Given the description of an element on the screen output the (x, y) to click on. 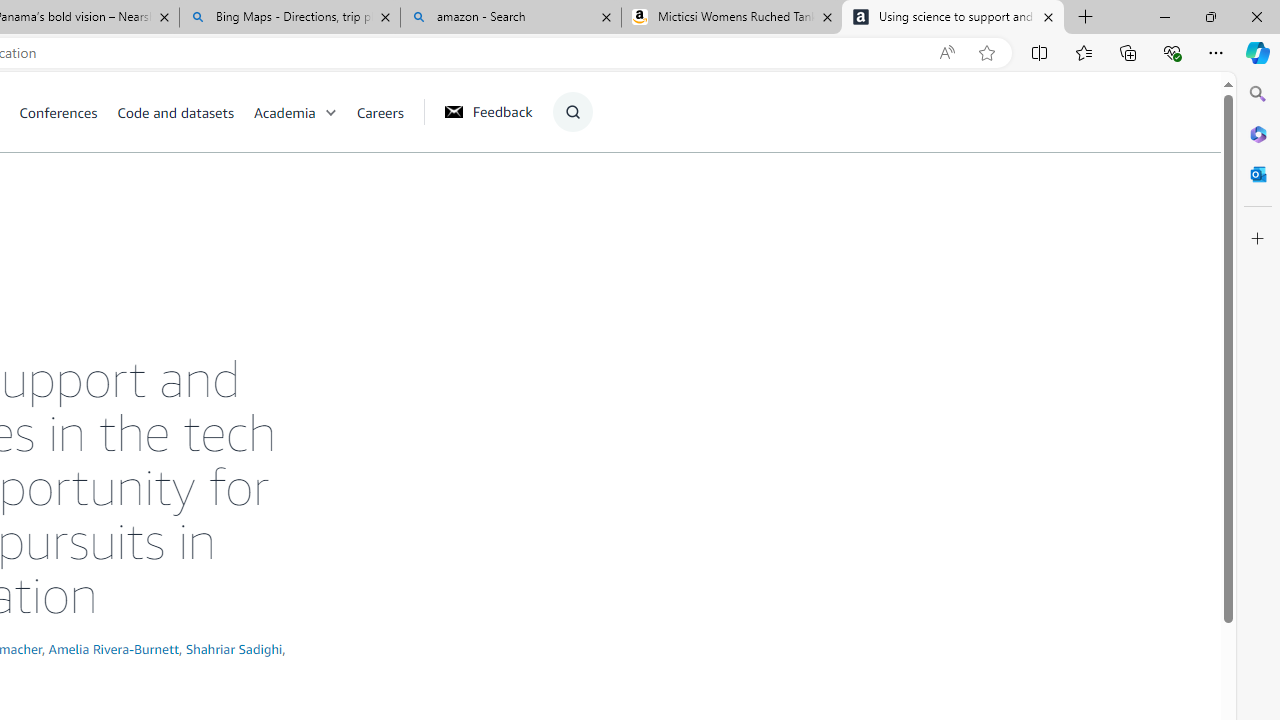
Submit Search (565, 191)
Conferences (68, 111)
Class: chevron (330, 116)
Class: icon-magnify (571, 111)
Careers (389, 111)
Show Search Form (571, 111)
Open Sub Navigation (330, 111)
